Given the description of an element on the screen output the (x, y) to click on. 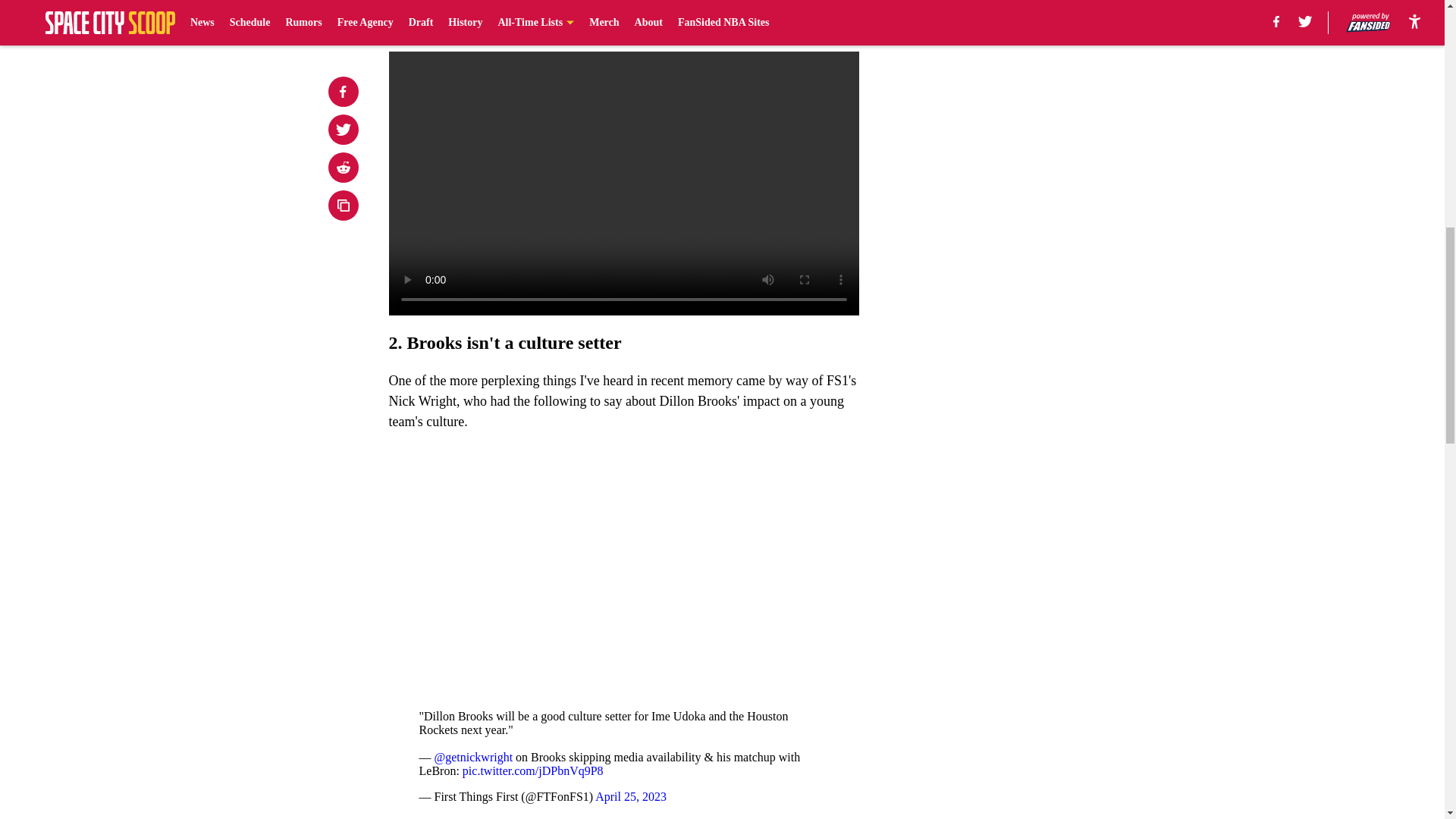
Prev (433, 20)
April 25, 2023 (630, 796)
Next (813, 20)
